Given the description of an element on the screen output the (x, y) to click on. 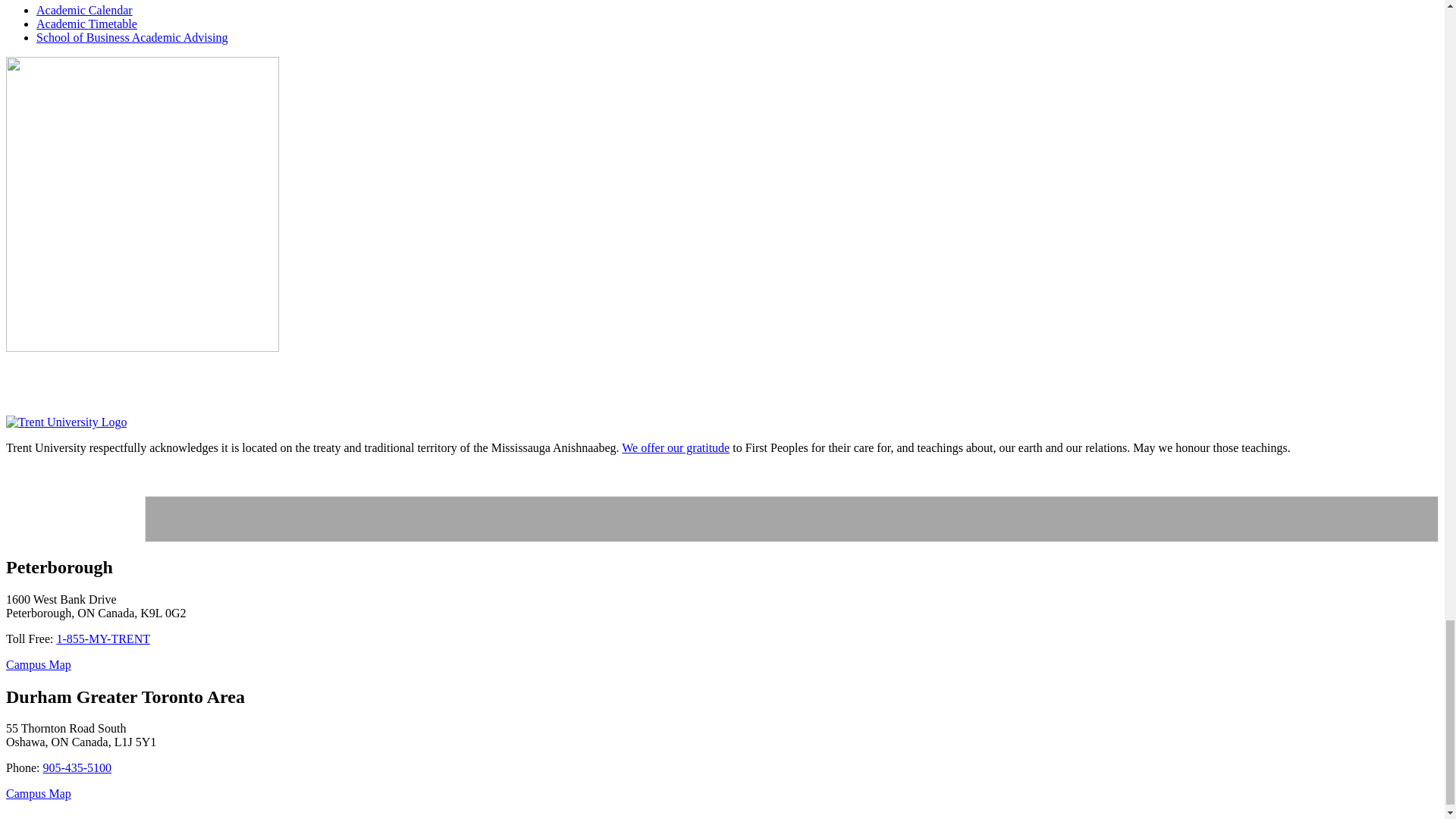
Footer link to homepage (65, 421)
